Given the description of an element on the screen output the (x, y) to click on. 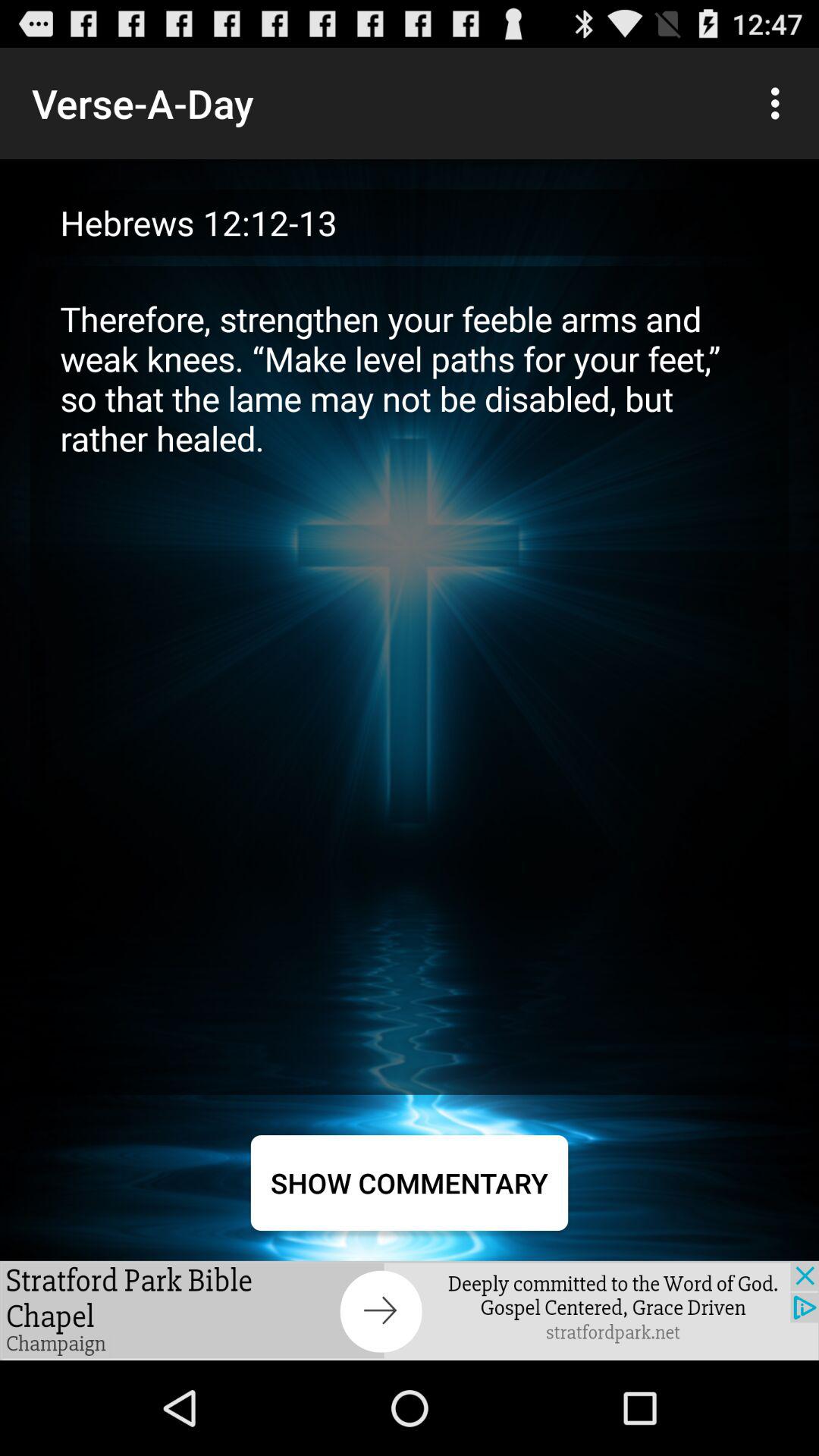
turn off icon at the top right corner (779, 103)
